Given the description of an element on the screen output the (x, y) to click on. 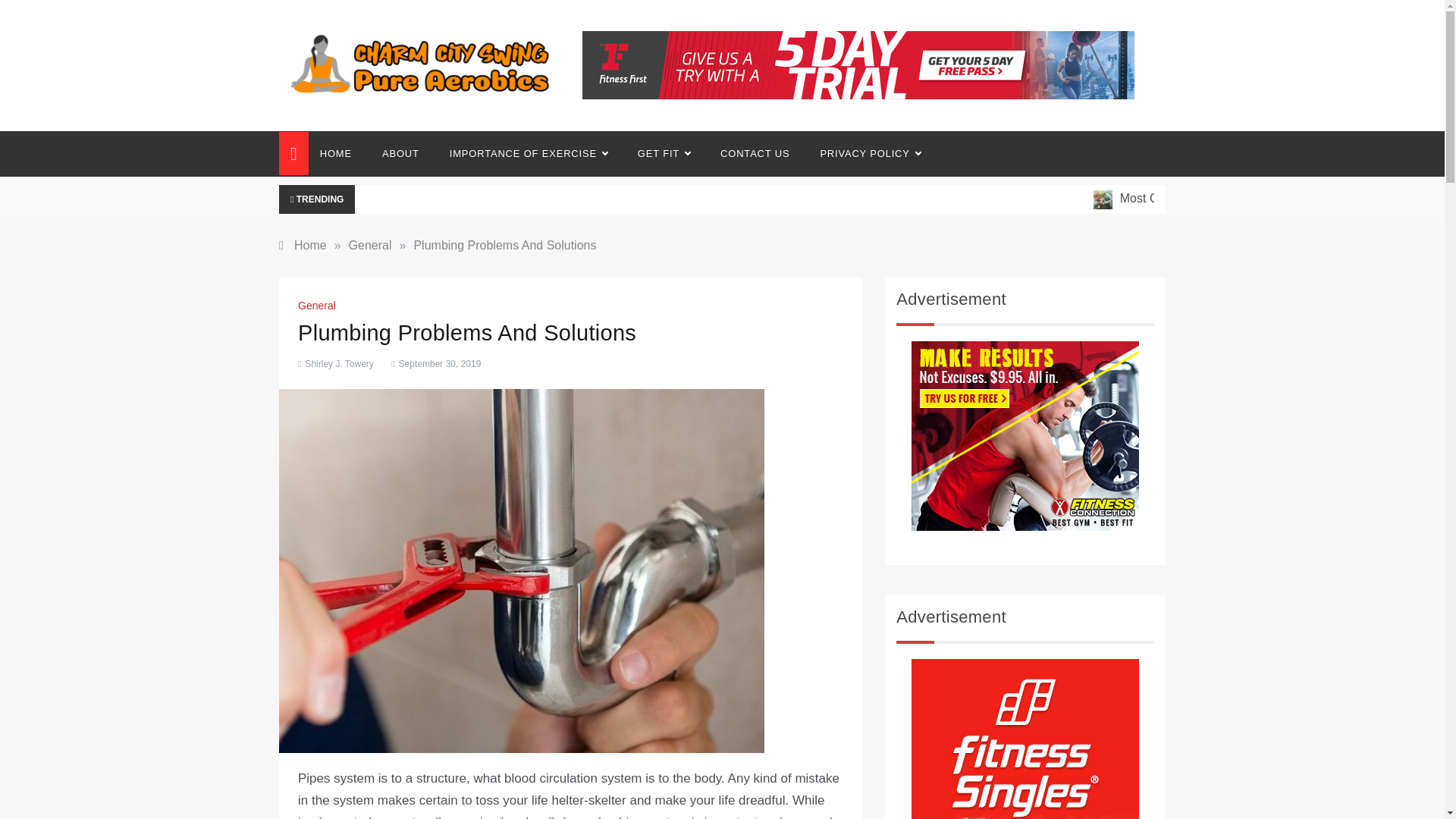
Most Common Air Conditioning Repairs (1266, 197)
GET FIT (663, 153)
CONTACT US (754, 153)
HOME (343, 153)
PRIVACY POLICY (862, 153)
ABOUT (399, 153)
IMPORTANCE OF EXERCISE (528, 153)
